Given the description of an element on the screen output the (x, y) to click on. 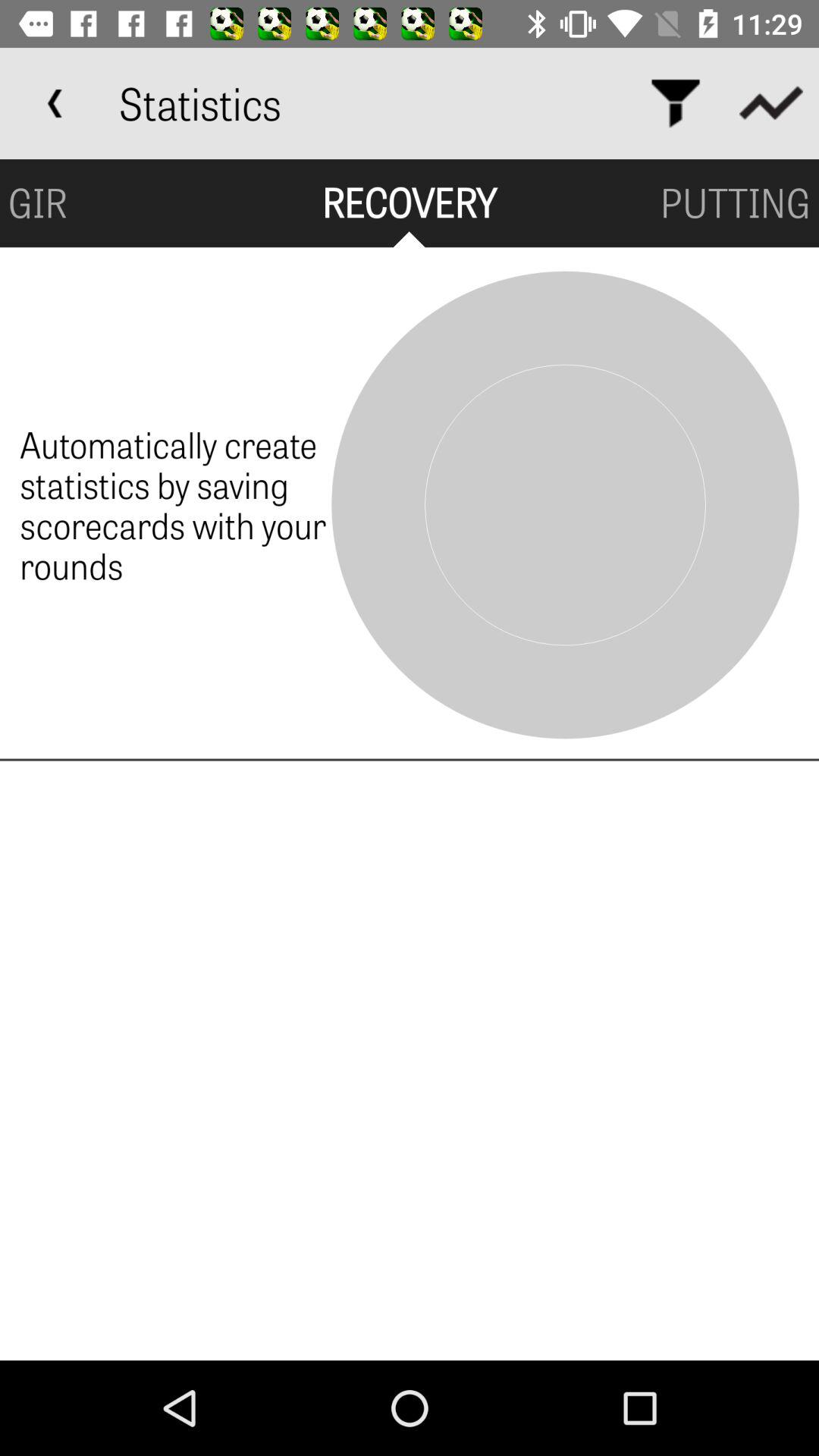
press the app to the right of the statistics (675, 103)
